Given the description of an element on the screen output the (x, y) to click on. 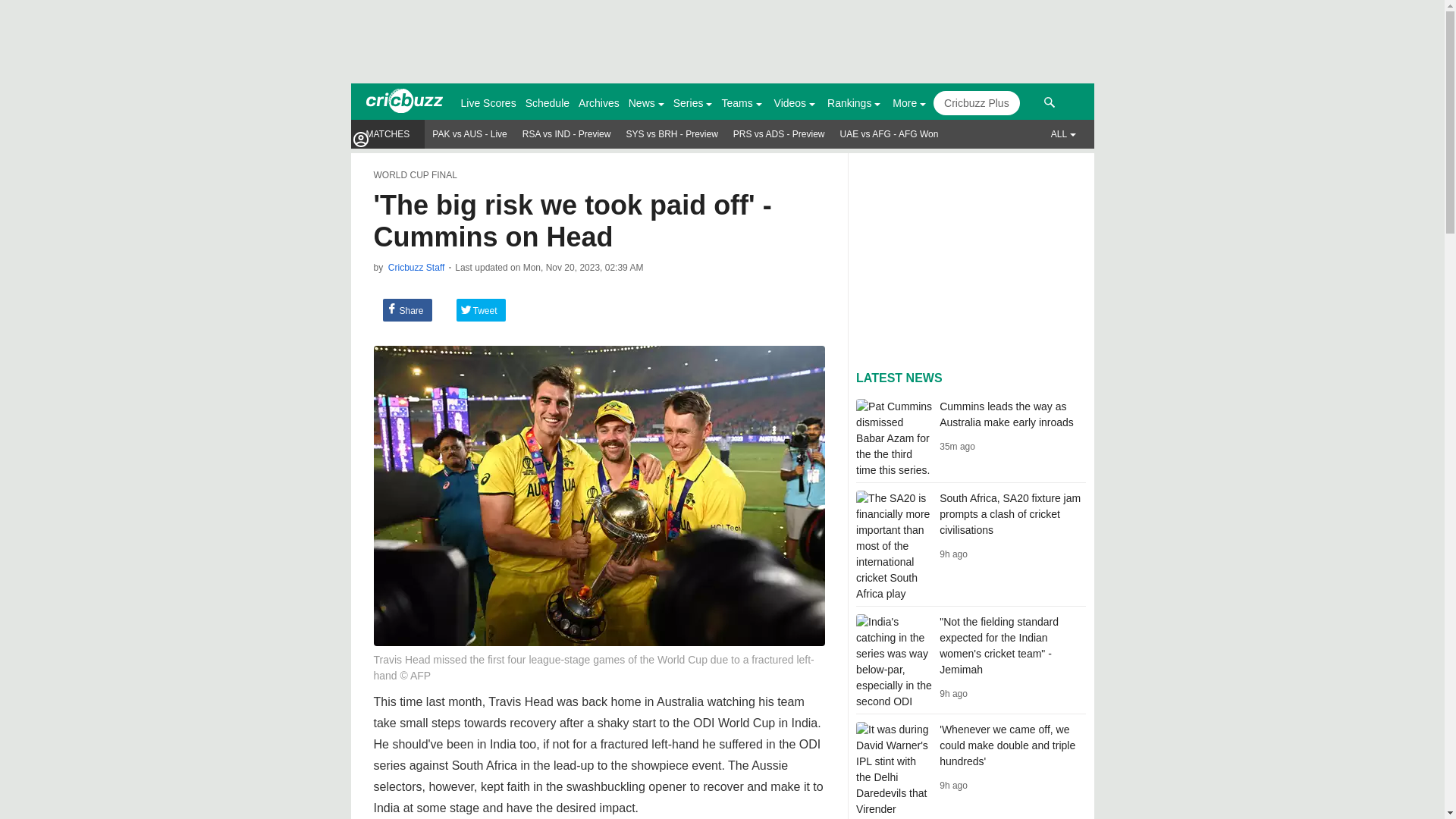
Cricket Series (692, 101)
Schedule (547, 101)
Archives (598, 101)
Cricket Schedule (547, 101)
Cricbuzz Logo (403, 100)
Live Scores (489, 101)
Cricket Scorecard Archives (598, 101)
Live Cricket Score (489, 101)
Series (687, 102)
Teams (736, 102)
